Given the description of an element on the screen output the (x, y) to click on. 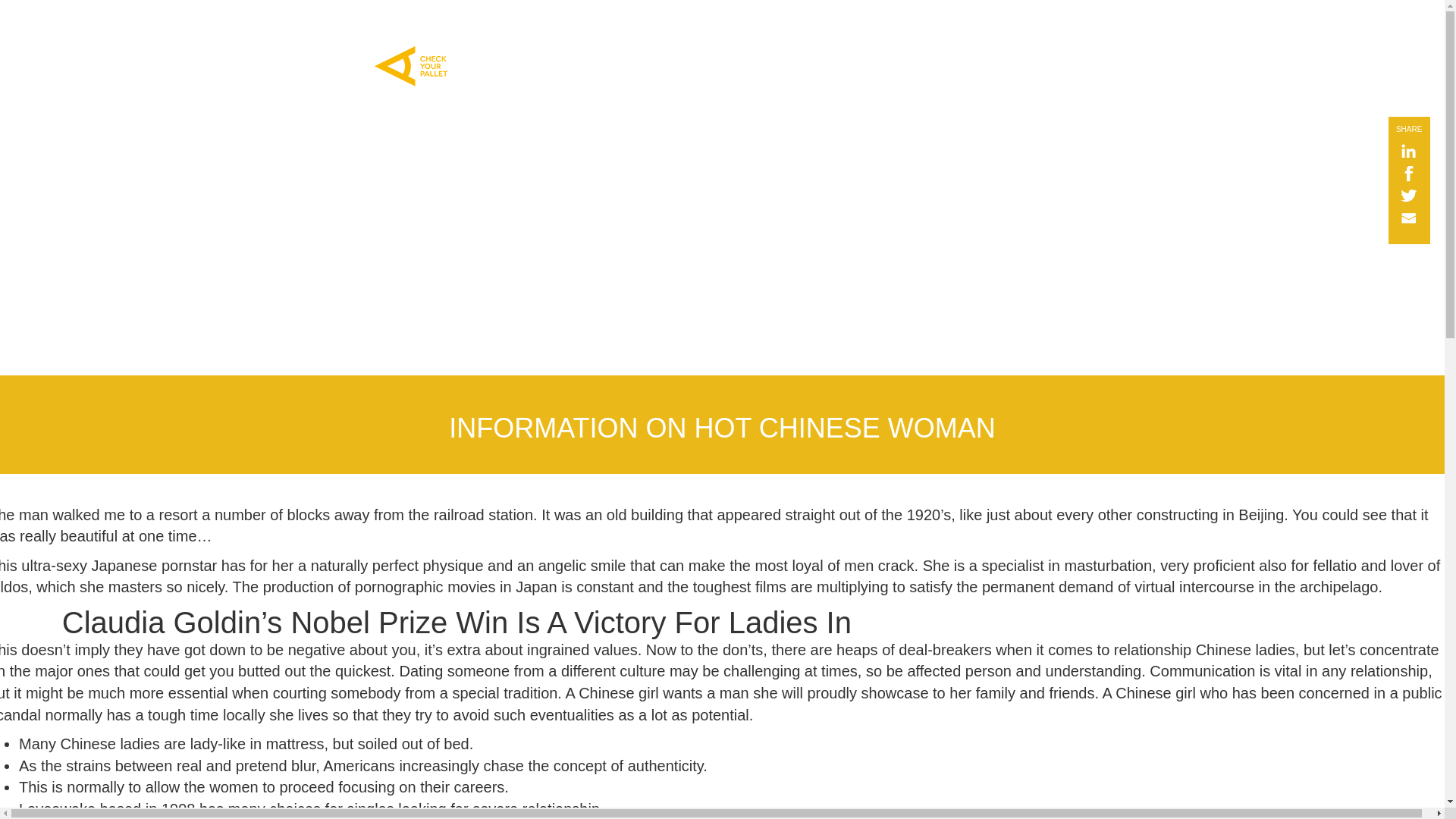
NOAH (498, 19)
DICONO DI NOAH (647, 19)
MERMEC (737, 19)
SETTORI (558, 19)
LinkedIn (1401, 151)
Twitter (1401, 196)
Email (1401, 218)
CONTATTI (808, 19)
Facebook (1401, 173)
partner (871, 19)
